Given the description of an element on the screen output the (x, y) to click on. 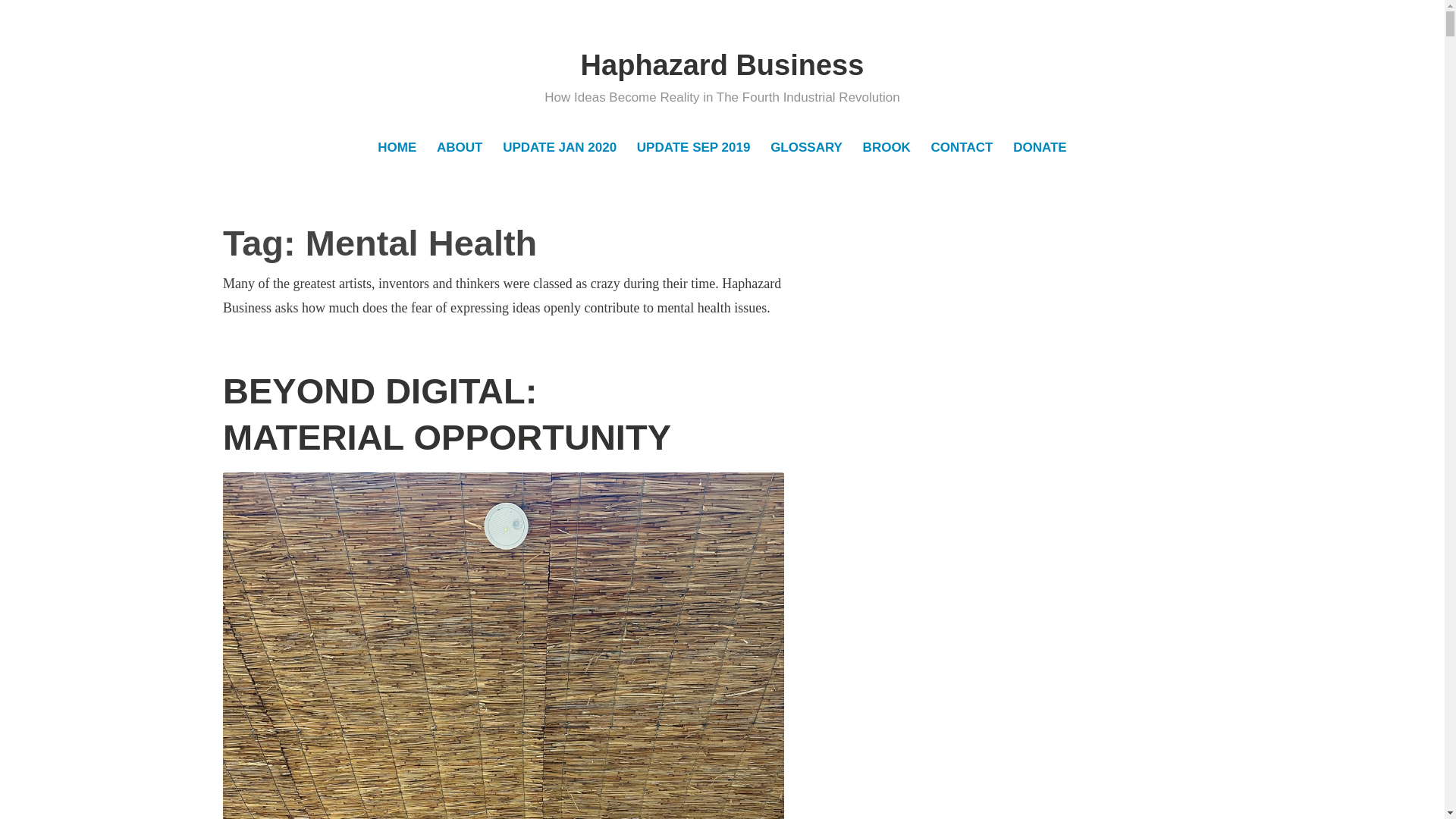
BEYOND DIGITAL: MATERIAL OPPORTUNITY Element type: text (446, 413)
ABOUT Element type: text (459, 148)
UPDATE SEP 2019 Element type: text (693, 148)
CONTACT Element type: text (961, 148)
DONATE Element type: text (1040, 148)
GLOSSARY Element type: text (806, 148)
UPDATE JAN 2020 Element type: text (559, 148)
Haphazard Business Element type: text (722, 65)
HOME Element type: text (397, 148)
BROOK Element type: text (886, 148)
